Given the description of an element on the screen output the (x, y) to click on. 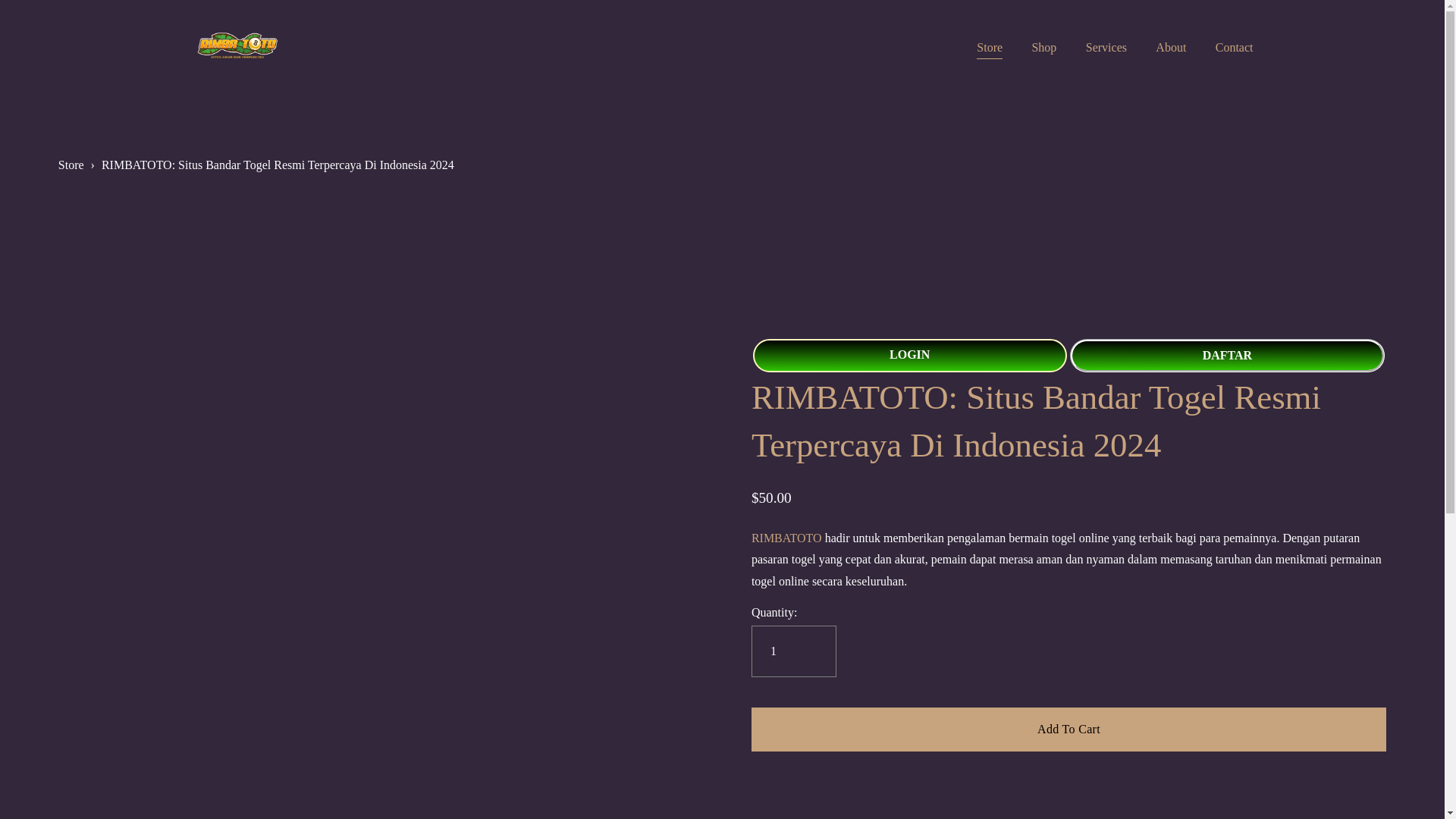
Shop (1043, 47)
LOGIN (909, 356)
Services (1106, 47)
RIMBATOTO (786, 537)
DAFTAR (1228, 356)
About (1171, 47)
1 (793, 651)
Contact (1234, 47)
Store (989, 47)
Store (71, 164)
